Given the description of an element on the screen output the (x, y) to click on. 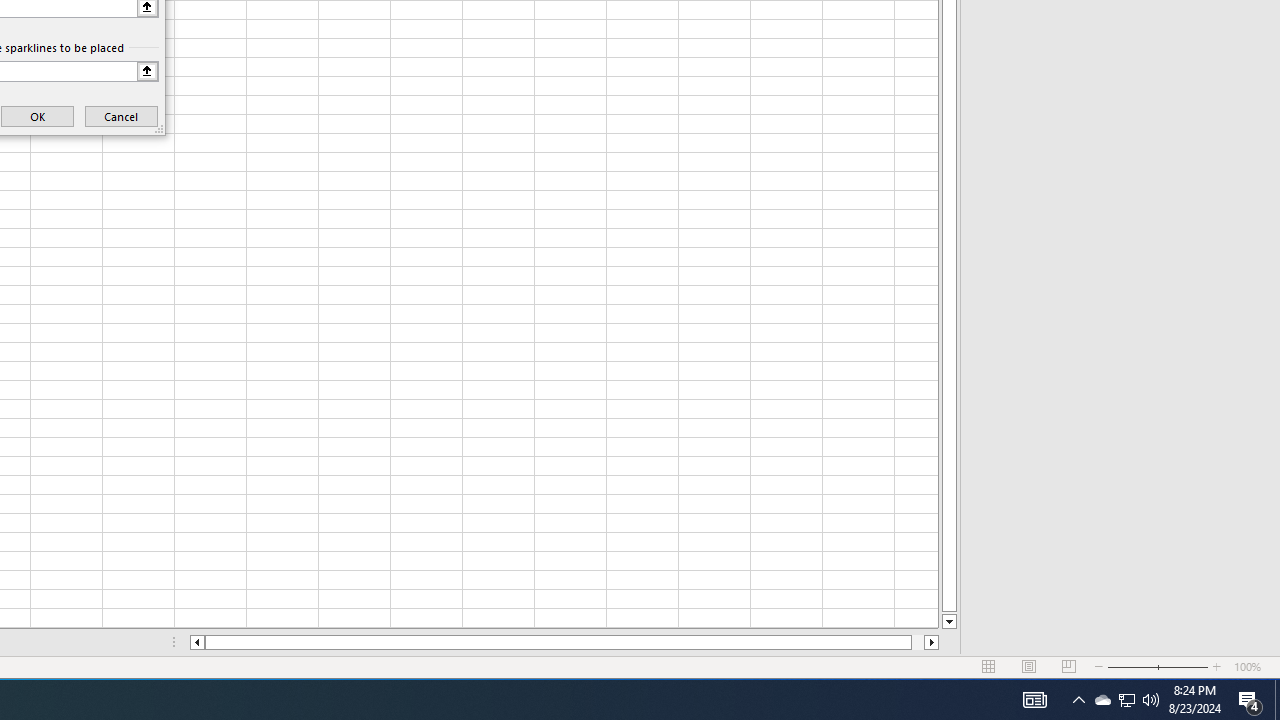
Page right (917, 642)
